Given the description of an element on the screen output the (x, y) to click on. 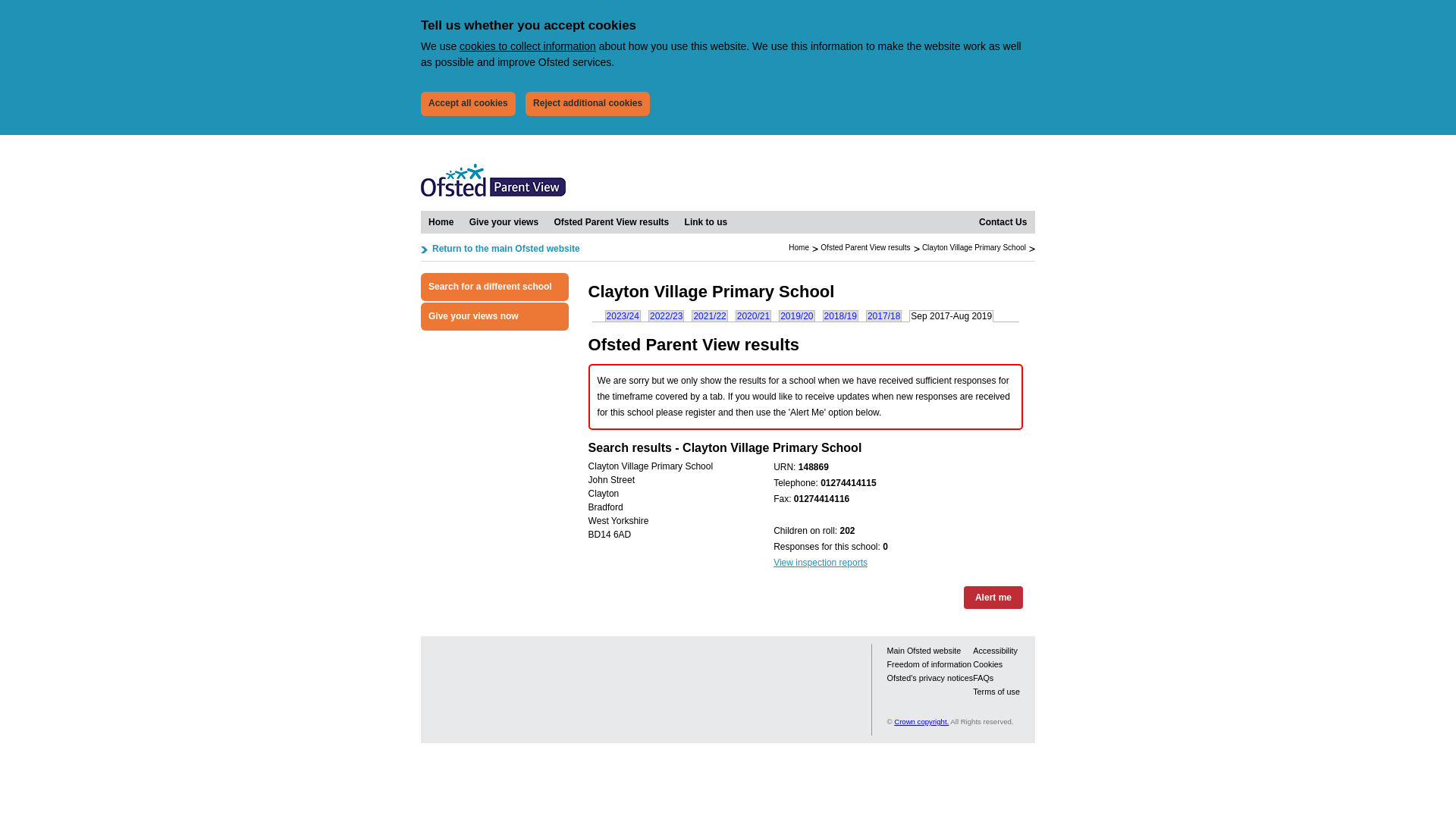
FAQs (982, 677)
Contact Us (1002, 221)
Accessibility (994, 650)
Home (440, 221)
Ofsted Parent View results (611, 221)
Ofsted Parent View results (611, 221)
Home (799, 247)
Cookies (987, 664)
Crown copyright. (921, 721)
Ofsted's privacy notices (930, 677)
Cookies (987, 664)
Ofsted Parent View results (865, 247)
Return to the main Ofsted website (499, 248)
Accept all cookies (467, 103)
